Given the description of an element on the screen output the (x, y) to click on. 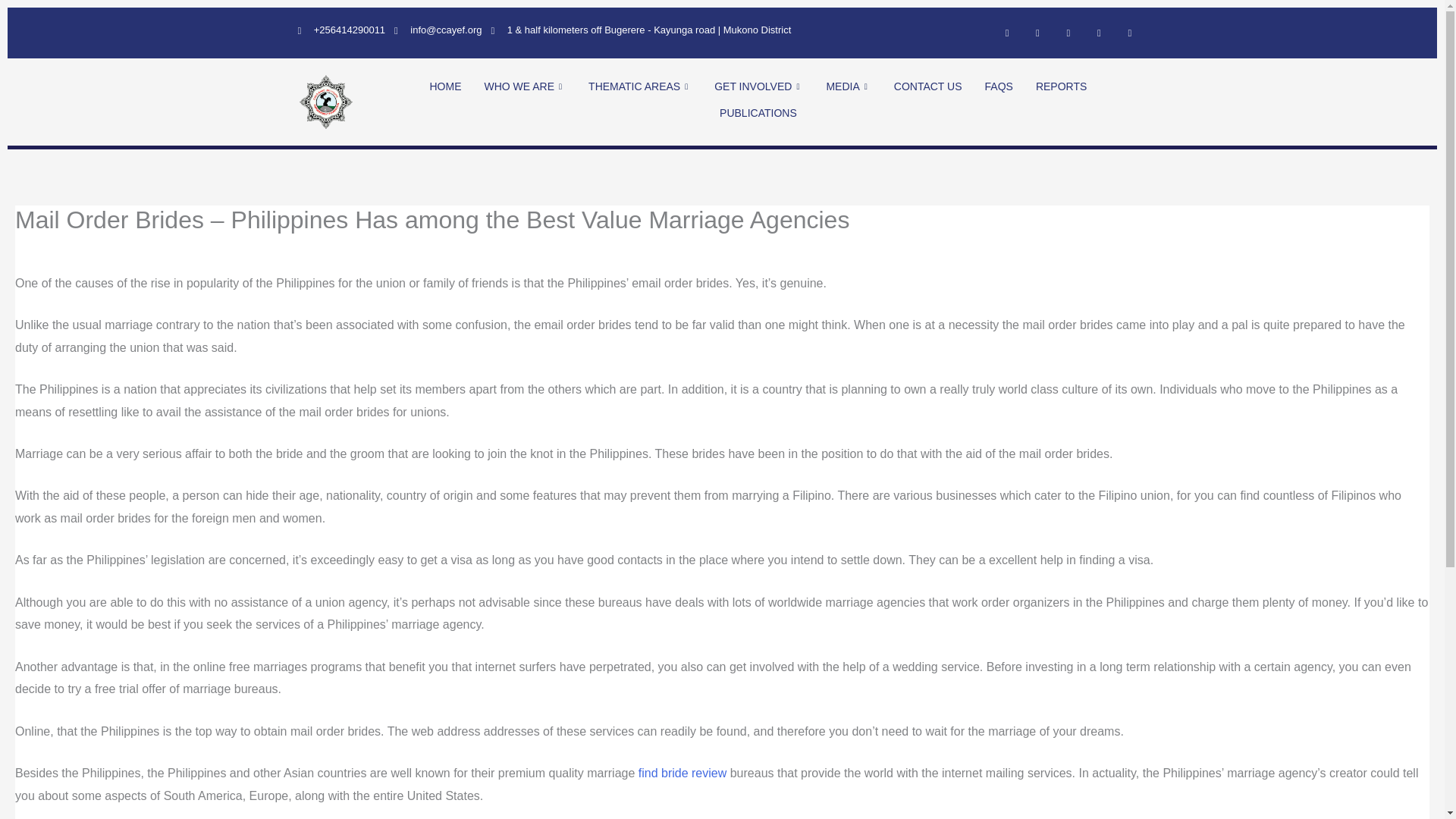
HOME (444, 86)
REPORTS (1061, 86)
PUBLICATIONS (757, 112)
find bride review (682, 772)
WHO WE ARE (523, 86)
CONTACT US (928, 86)
MEDIA (847, 86)
GET INVOLVED (758, 86)
FAQS (999, 86)
THEMATIC AREAS (639, 86)
